Given the description of an element on the screen output the (x, y) to click on. 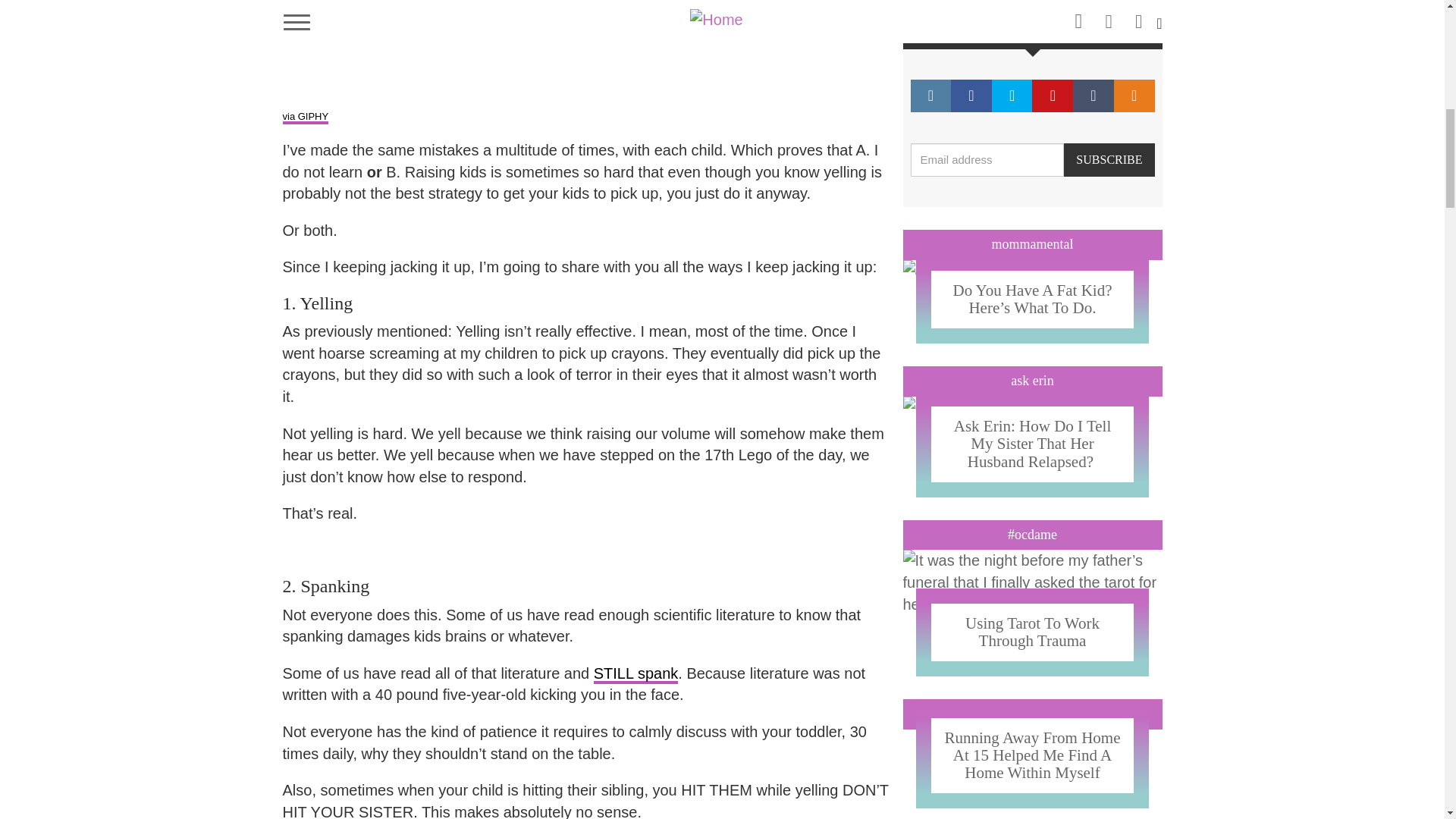
instagram (930, 95)
SUBSCRIBE (1109, 160)
